Given the description of an element on the screen output the (x, y) to click on. 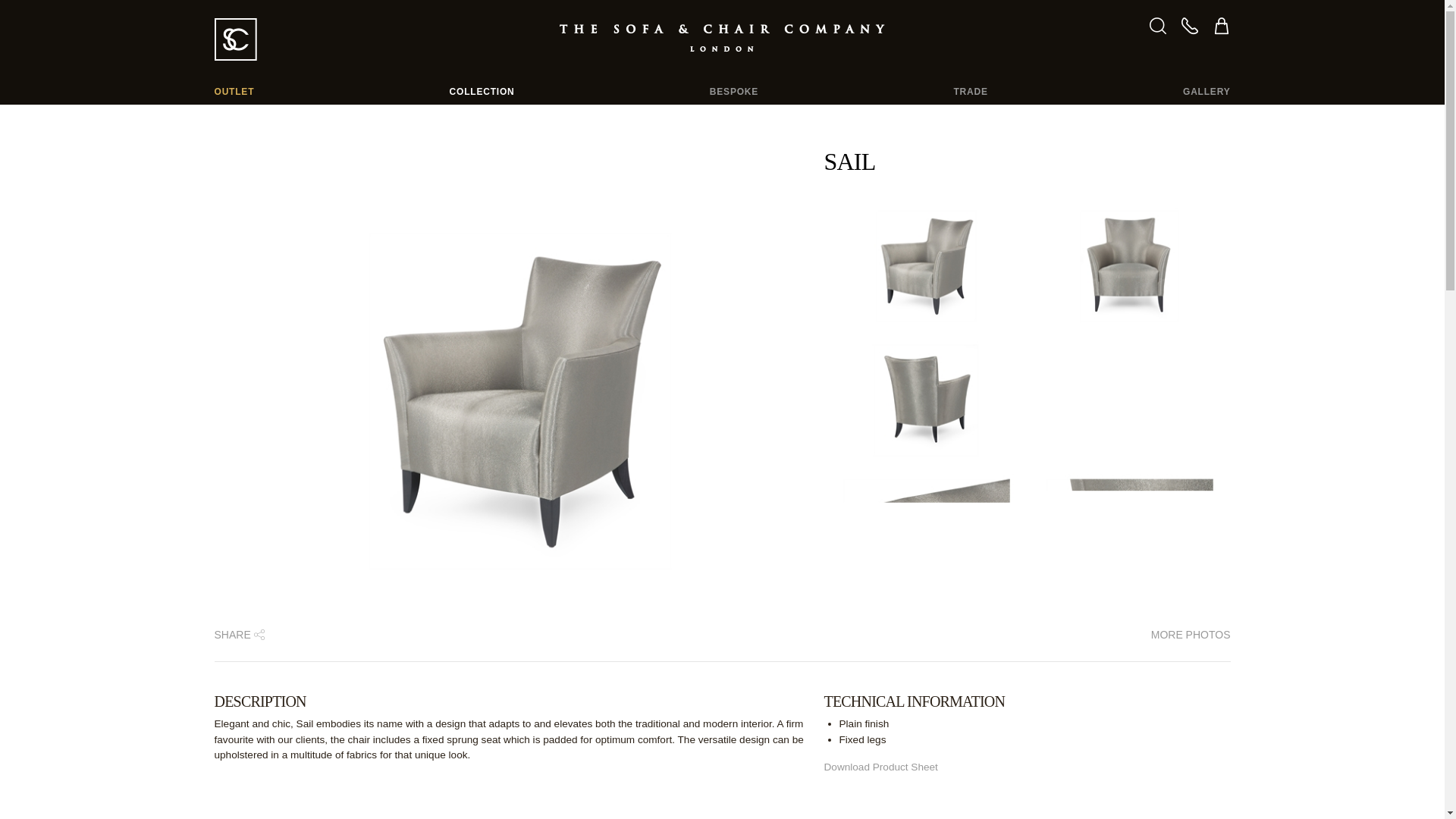
BESPOKE (734, 91)
OUTLET (233, 91)
COLLECTION (482, 91)
